Given the description of an element on the screen output the (x, y) to click on. 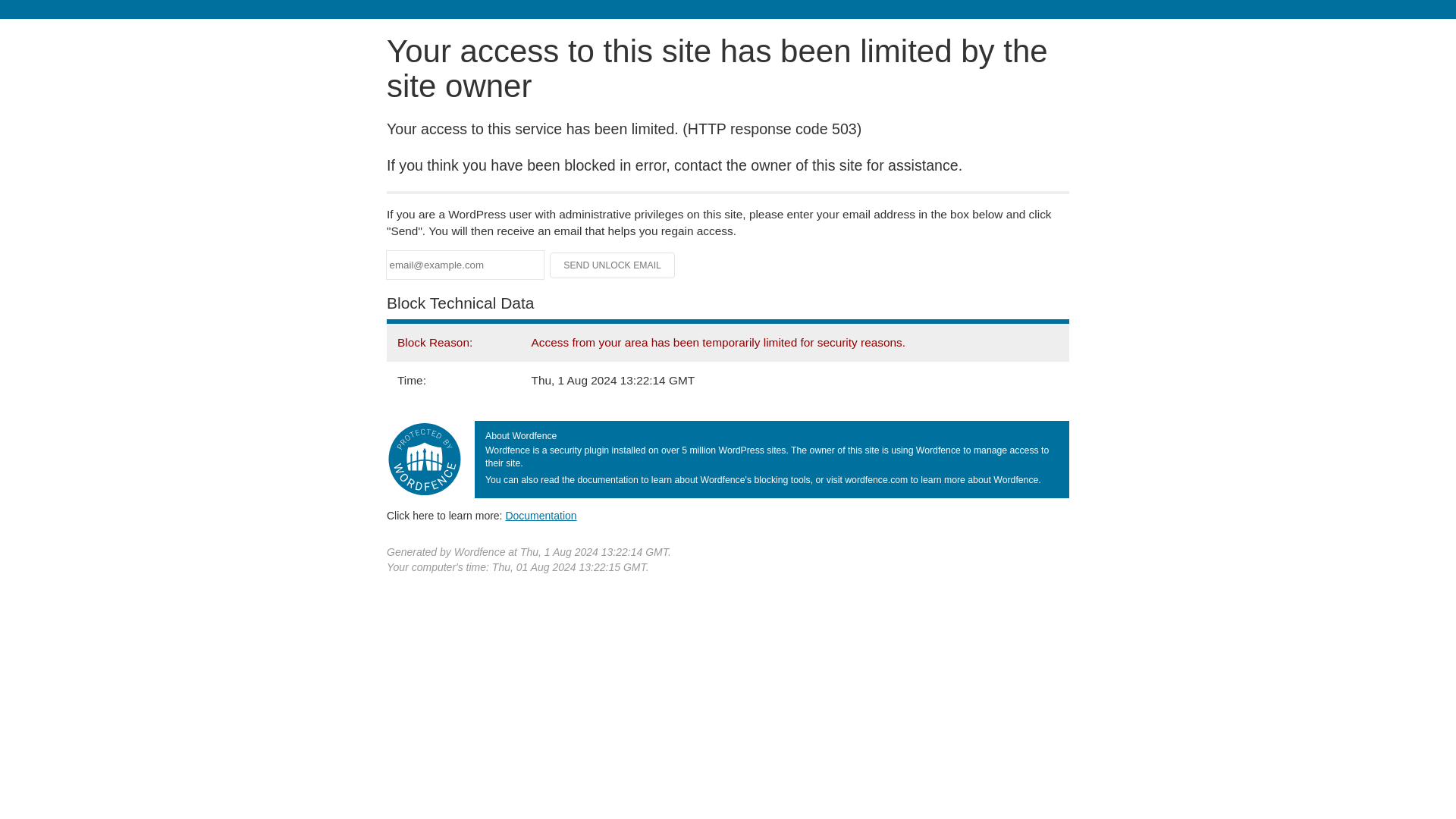
Send Unlock Email (612, 265)
Send Unlock Email (612, 265)
Documentation (540, 515)
